Given the description of an element on the screen output the (x, y) to click on. 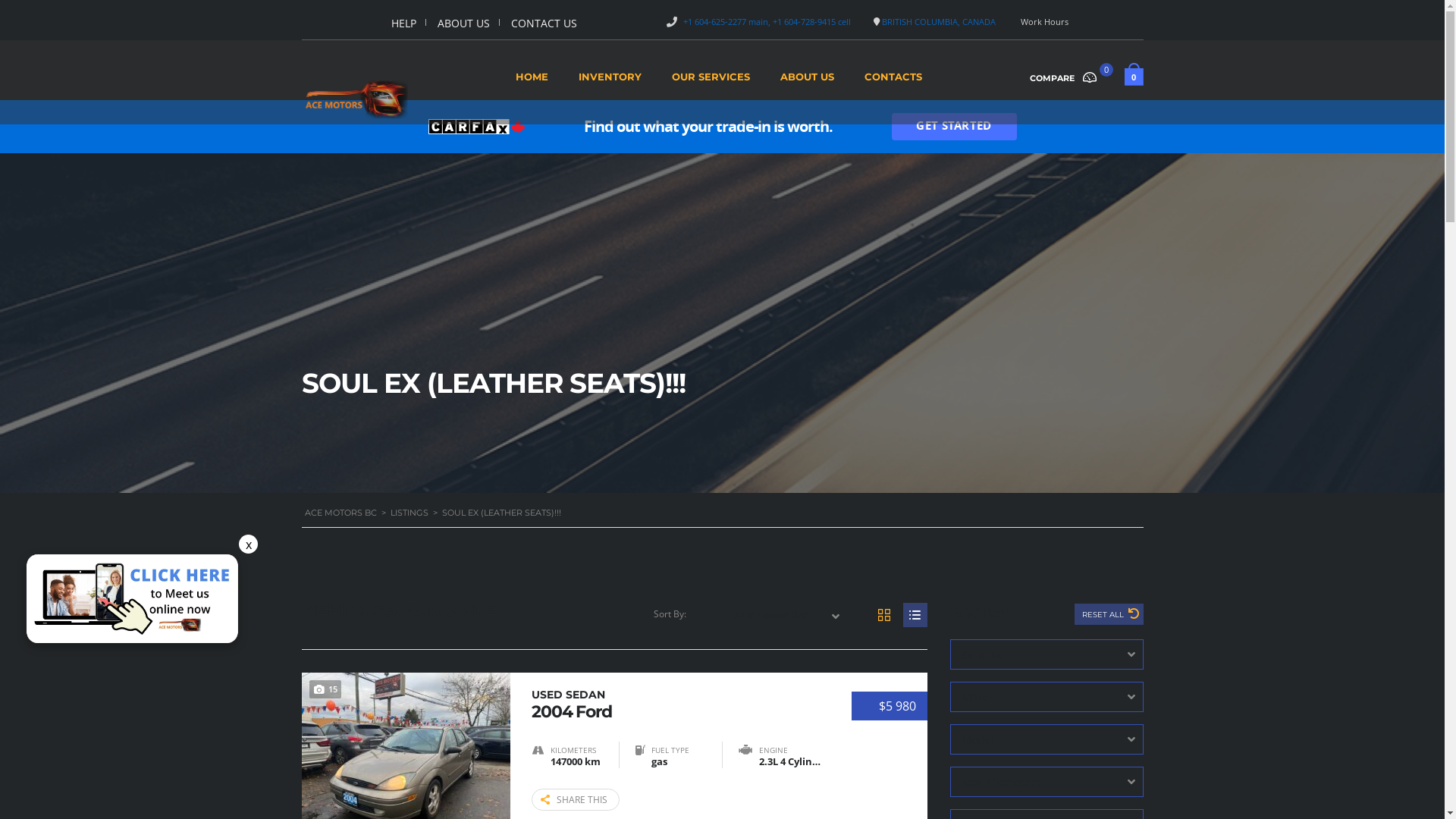
0 Element type: text (1132, 79)
GET STARTED Element type: text (953, 126)
INVENTORY Element type: text (608, 81)
SHARE THIS Element type: text (574, 799)
COMPARE
0 Element type: text (1068, 76)
HELP Element type: text (403, 22)
OUR SERVICES Element type: text (710, 81)
CONTACTS Element type: text (893, 81)
CONTACT US Element type: text (544, 22)
RESET ALL Element type: text (1107, 613)
USED SEDAN
2004 Ford Element type: text (675, 703)
HOME Element type: text (531, 81)
ACE MOTORS BC Element type: text (340, 512)
ABOUT US Element type: text (806, 81)
LISTINGS Element type: text (408, 512)
Home Element type: hover (354, 98)
Work Hours Element type: text (1044, 21)
ABOUT US Element type: text (463, 22)
